Given the description of an element on the screen output the (x, y) to click on. 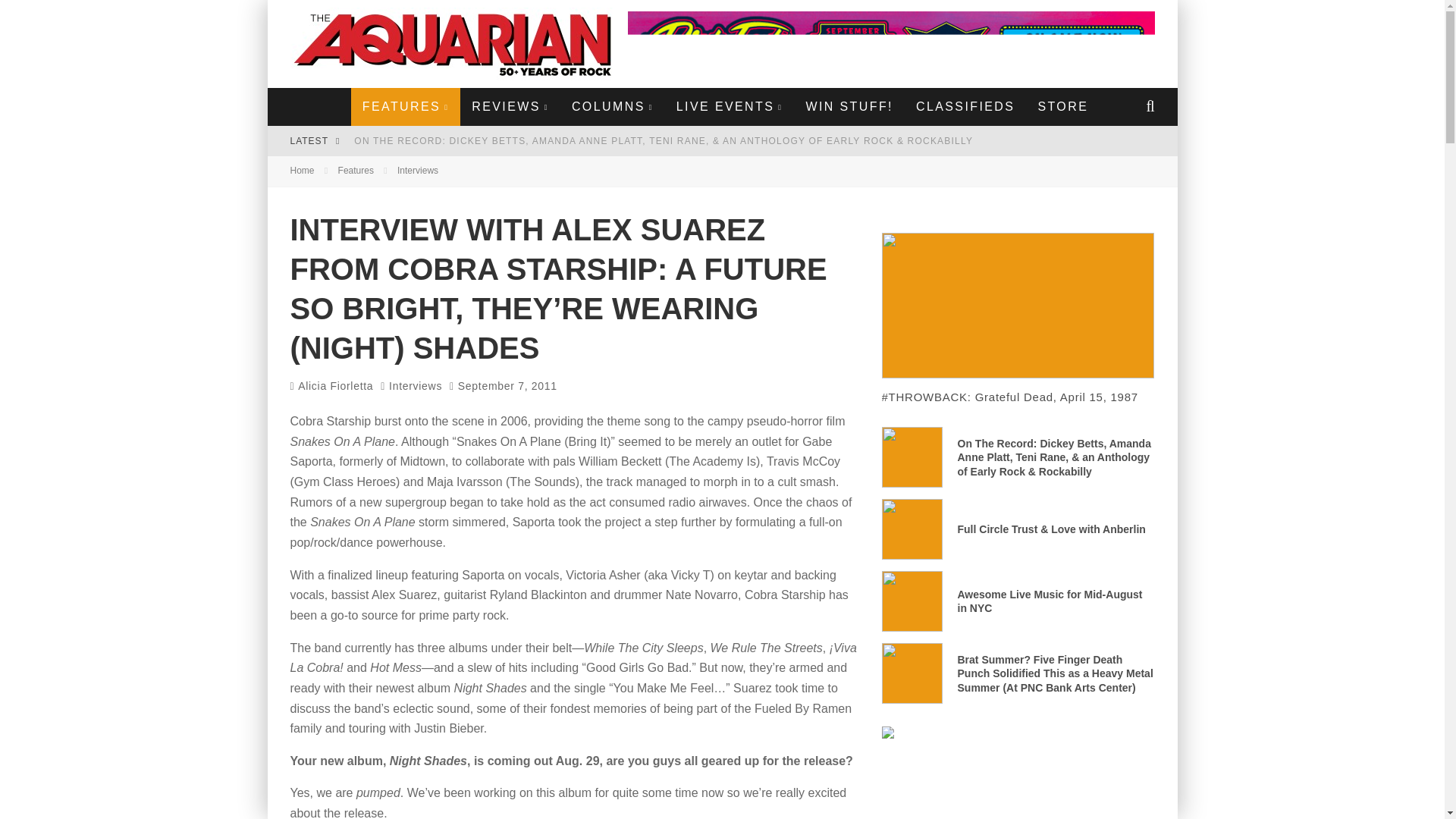
REVIEWS (510, 106)
FEATURES (405, 106)
COLUMNS (612, 106)
